Given the description of an element on the screen output the (x, y) to click on. 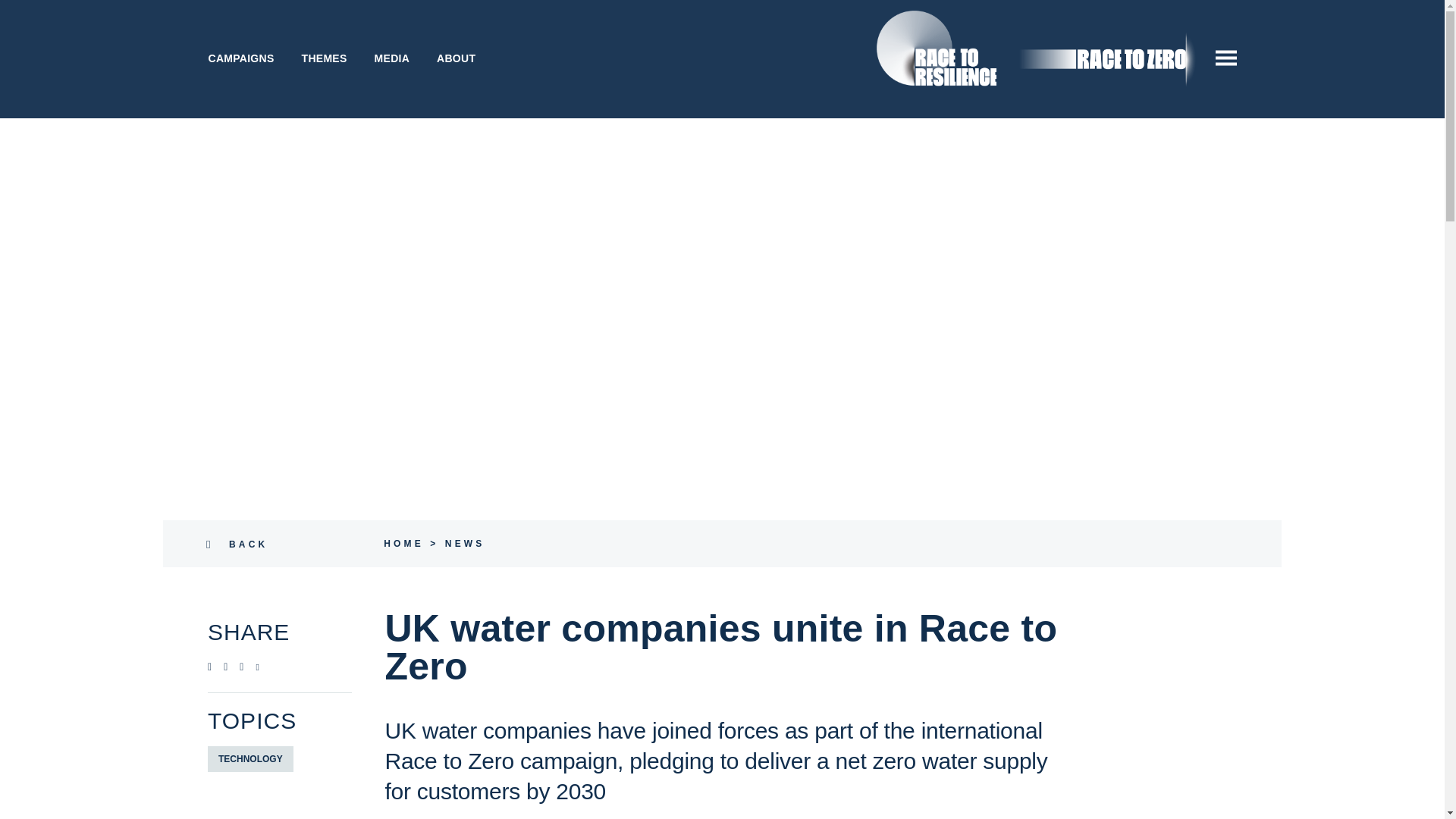
CAMPAIGNS (240, 58)
THEMES (324, 58)
ABOUT (456, 58)
MEDIA (392, 58)
